Given the description of an element on the screen output the (x, y) to click on. 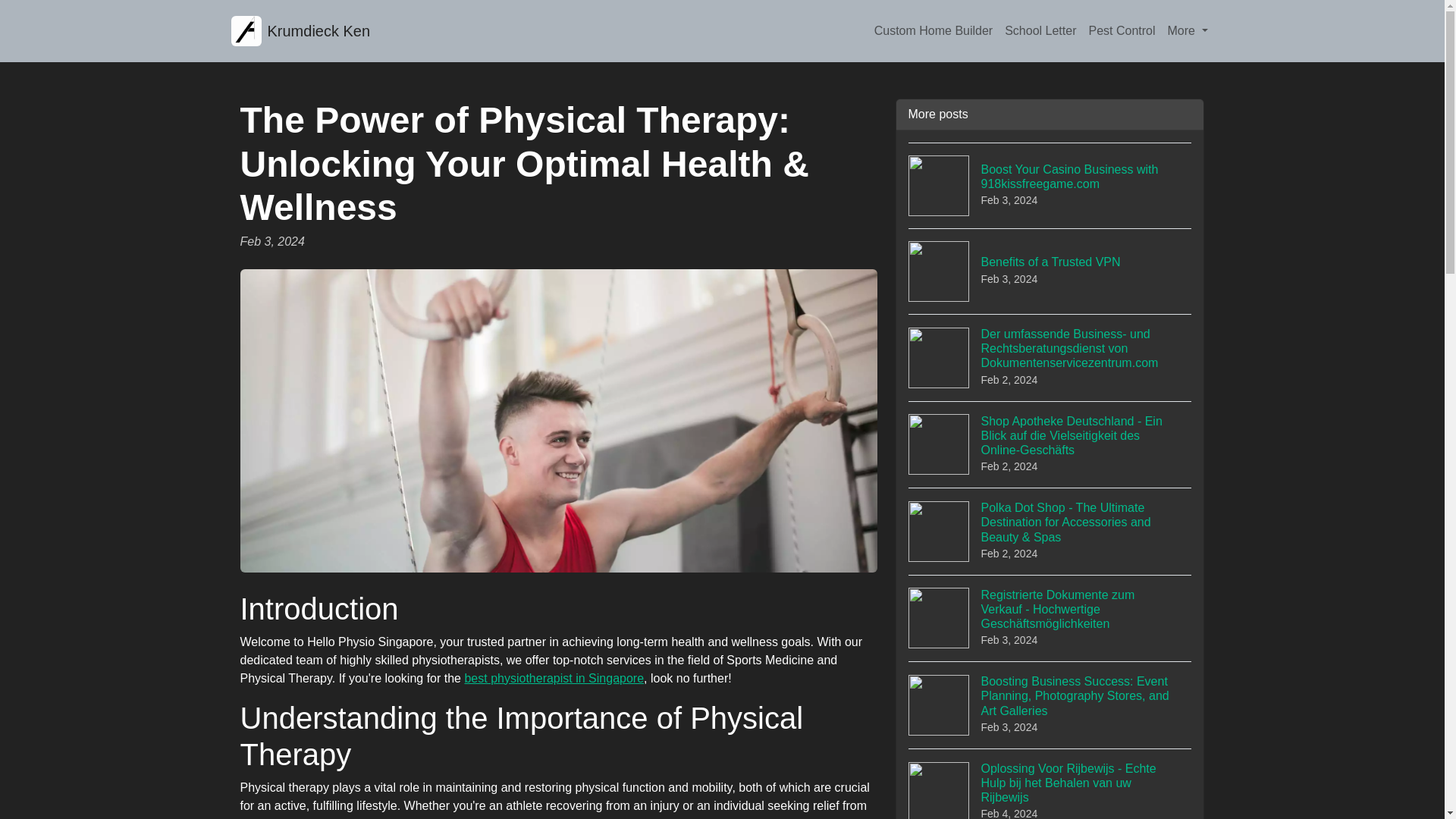
School Letter (1039, 30)
More (1187, 30)
Pest Control (1120, 30)
Krumdieck Ken (299, 30)
best physiotherapist in Singapore (553, 677)
Custom Home Builder (932, 30)
